Given the description of an element on the screen output the (x, y) to click on. 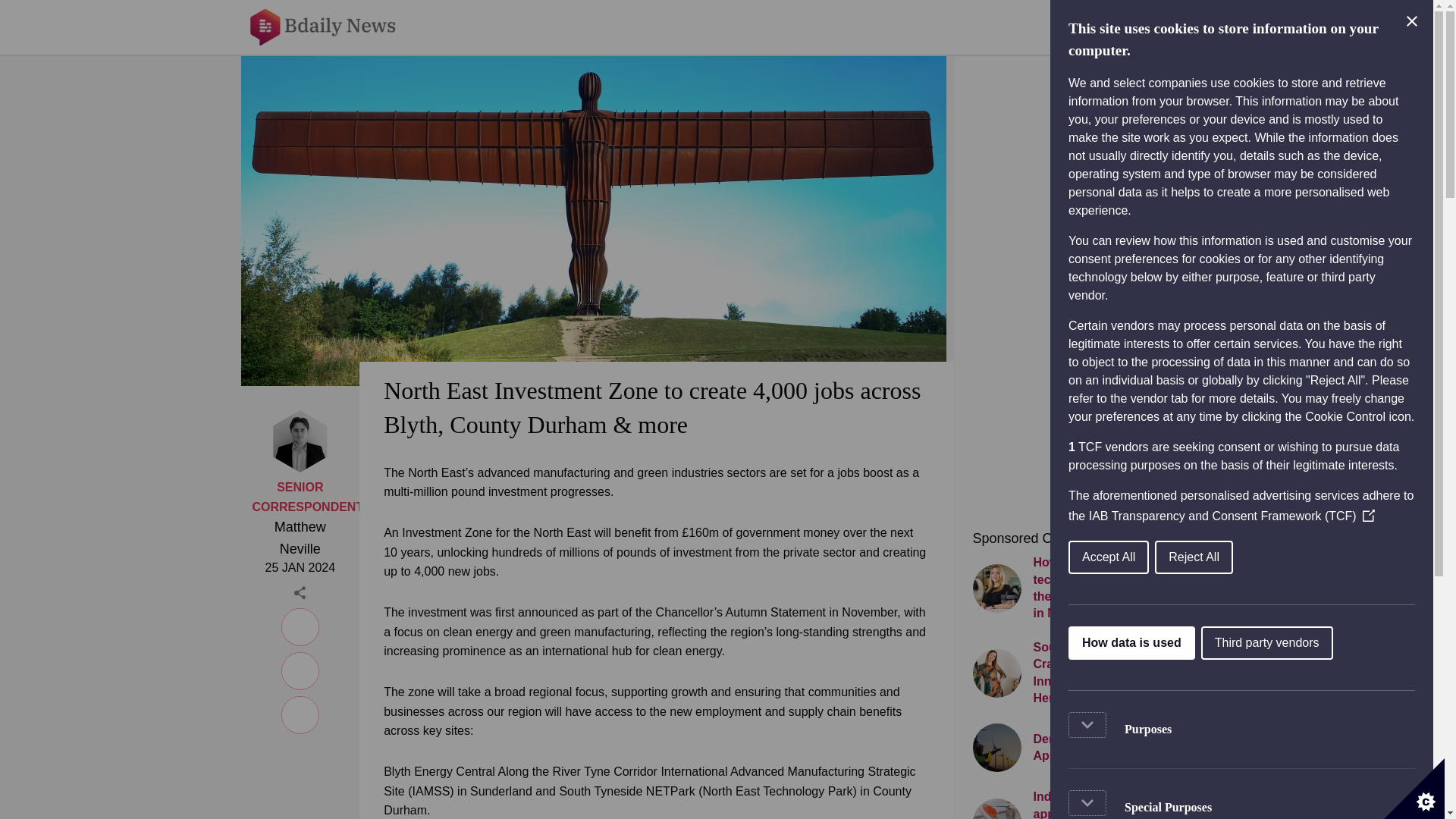
Accept All (1248, 557)
Facebook (300, 668)
Bdaily (333, 27)
Twitter (300, 712)
LinkedIn (300, 624)
How data is used (1194, 643)
Reject All (1310, 557)
Matthew Neville (299, 538)
Third party vendors (1315, 643)
Demystifying Degree Apprenticeships (1078, 747)
